Given the description of an element on the screen output the (x, y) to click on. 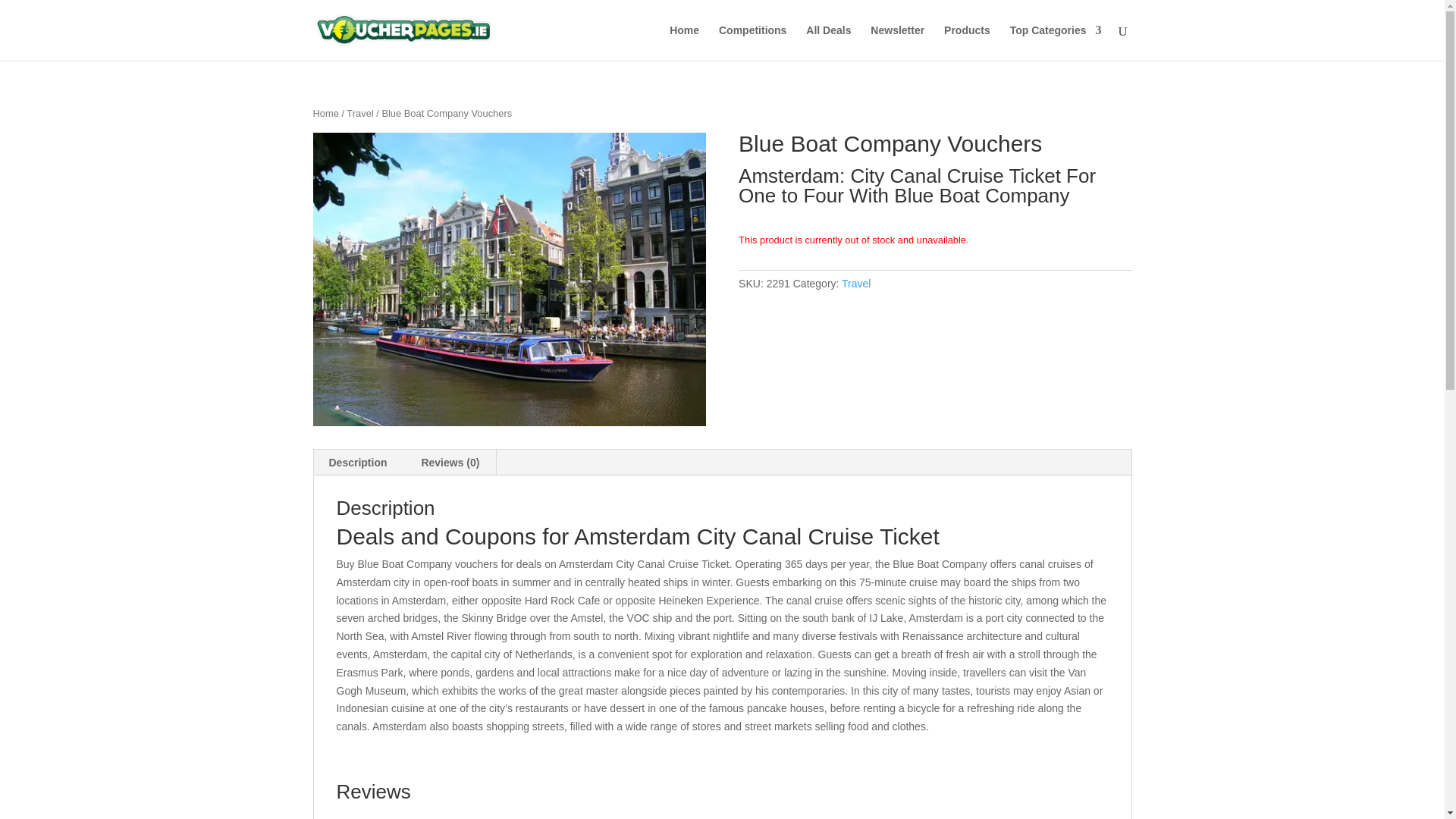
All Deals (828, 42)
Travel (359, 112)
Description (358, 462)
blue boat (508, 278)
Products (966, 42)
Competitions (752, 42)
Top Categories (1056, 42)
Home (325, 112)
Travel (855, 283)
Newsletter (897, 42)
